Given the description of an element on the screen output the (x, y) to click on. 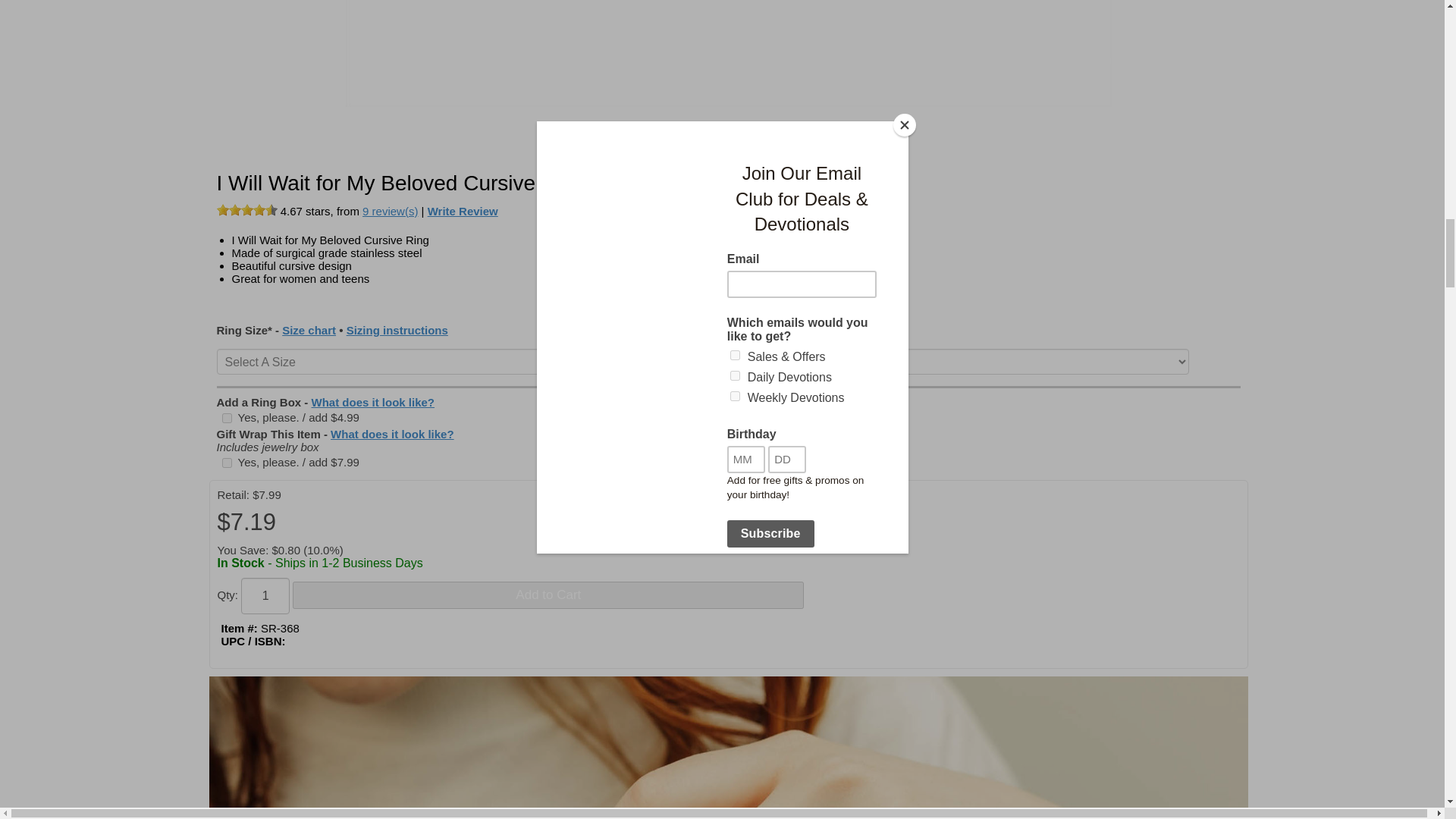
on (226, 418)
on (226, 462)
Add to Cart (547, 595)
1 (265, 596)
